Given the description of an element on the screen output the (x, y) to click on. 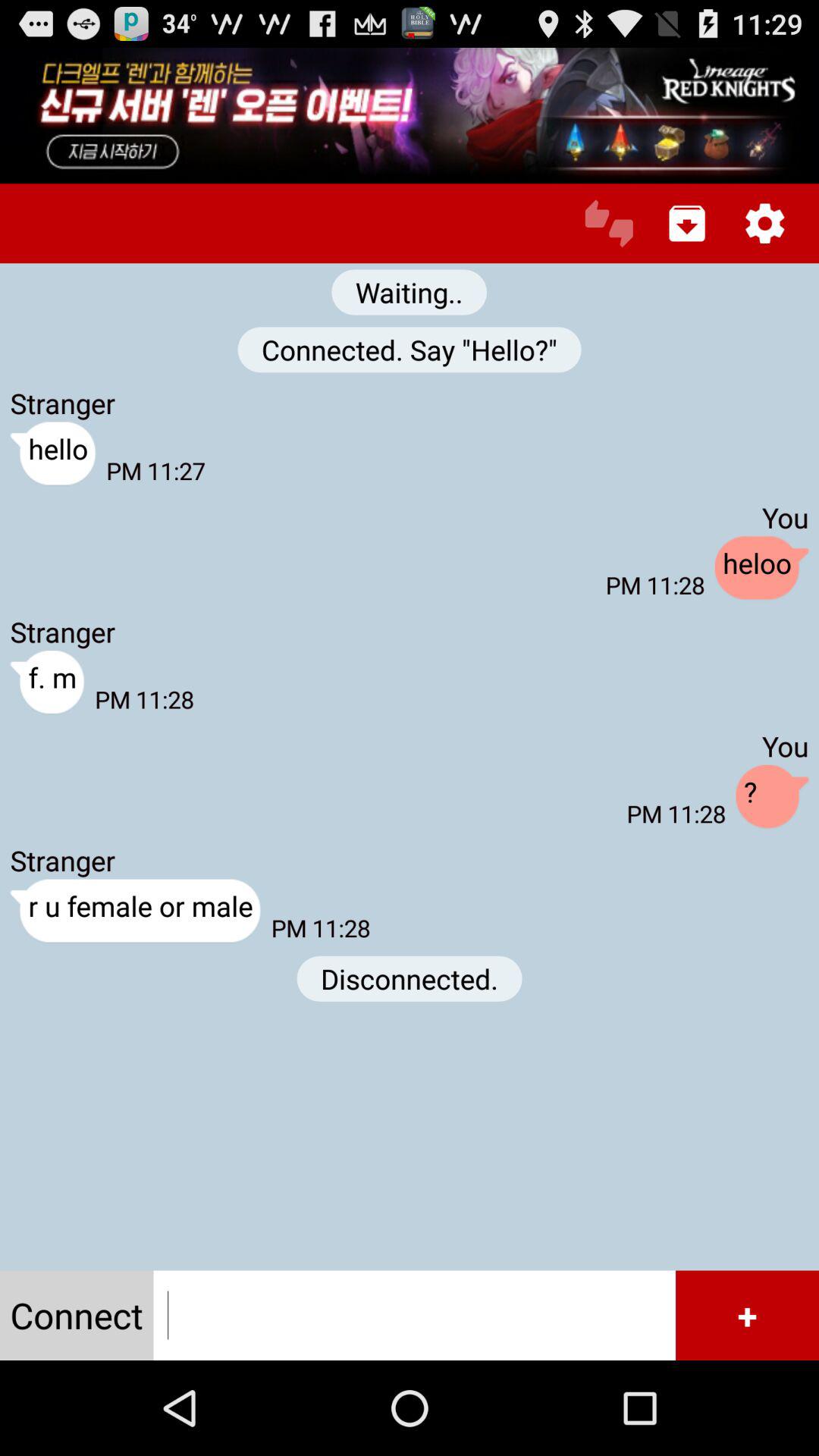
connect to chat (609, 223)
